Given the description of an element on the screen output the (x, y) to click on. 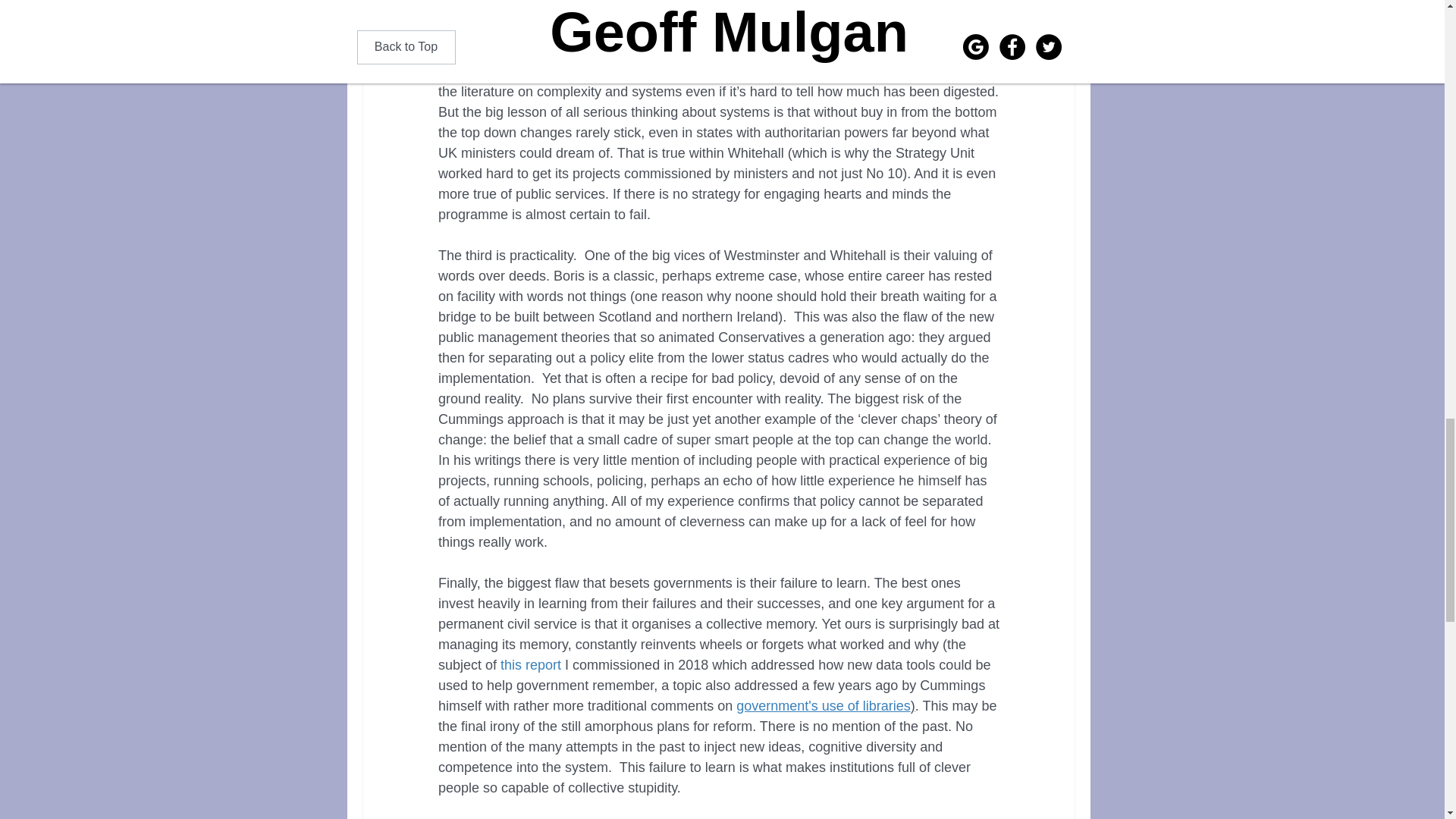
government's use of libraries (823, 705)
this report (530, 664)
